Given the description of an element on the screen output the (x, y) to click on. 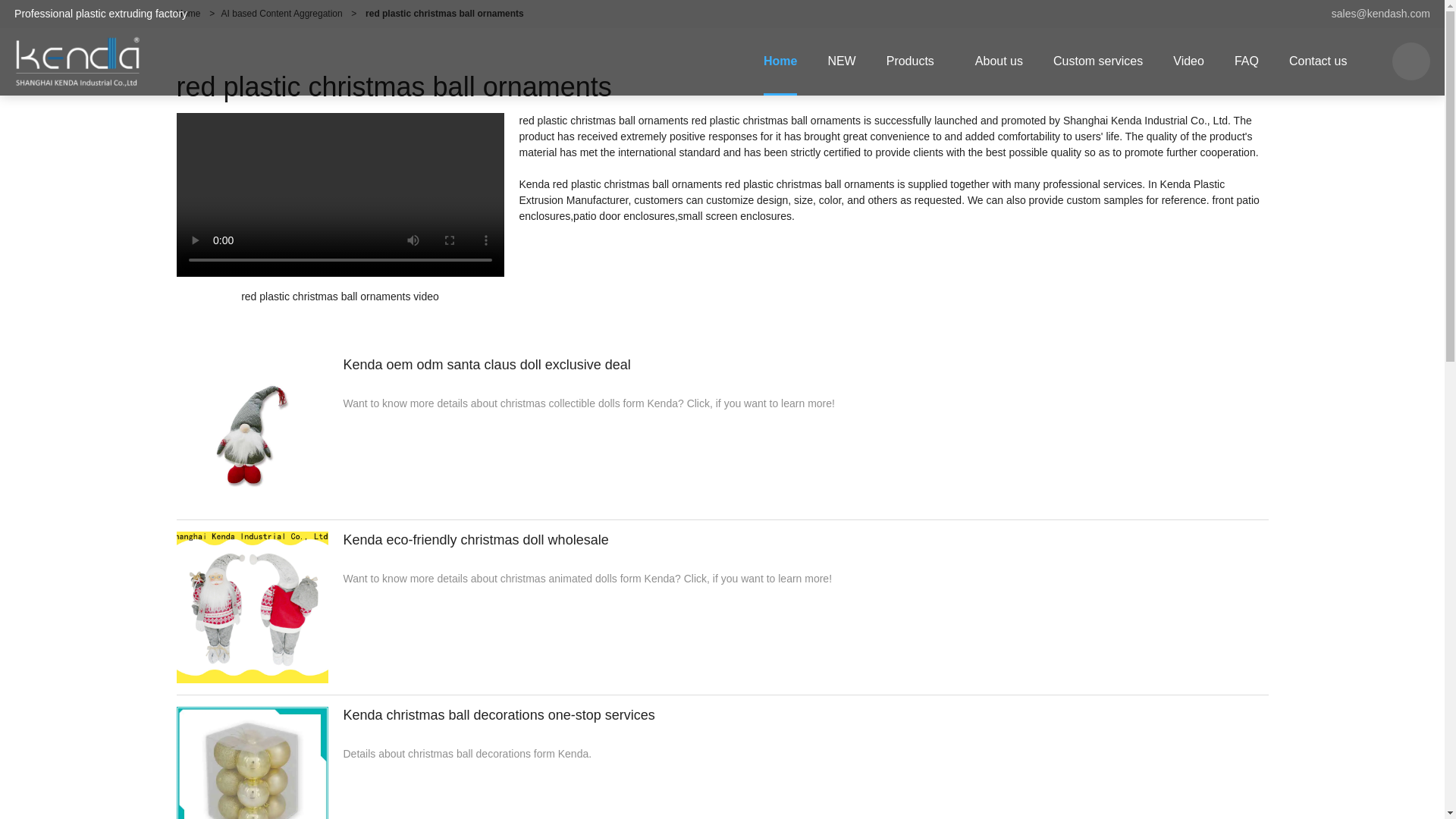
Home (188, 13)
Custom services (1097, 61)
About us (998, 61)
Contact us (1317, 61)
Products (914, 61)
Home (780, 61)
AI based Content Aggregation (281, 13)
Video (1188, 61)
